Given the description of an element on the screen output the (x, y) to click on. 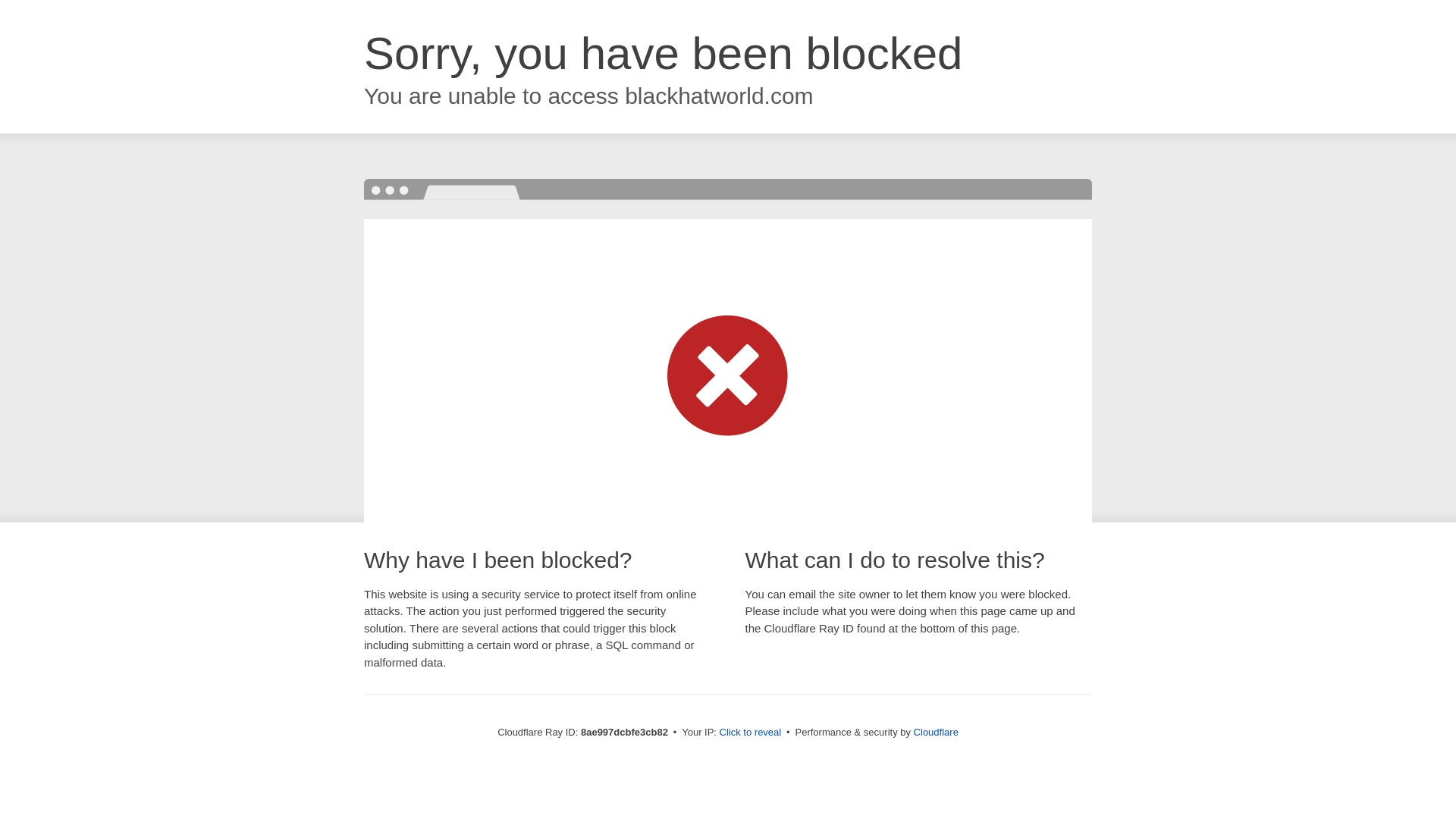
Click to reveal (750, 732)
Cloudflare (936, 731)
